Given the description of an element on the screen output the (x, y) to click on. 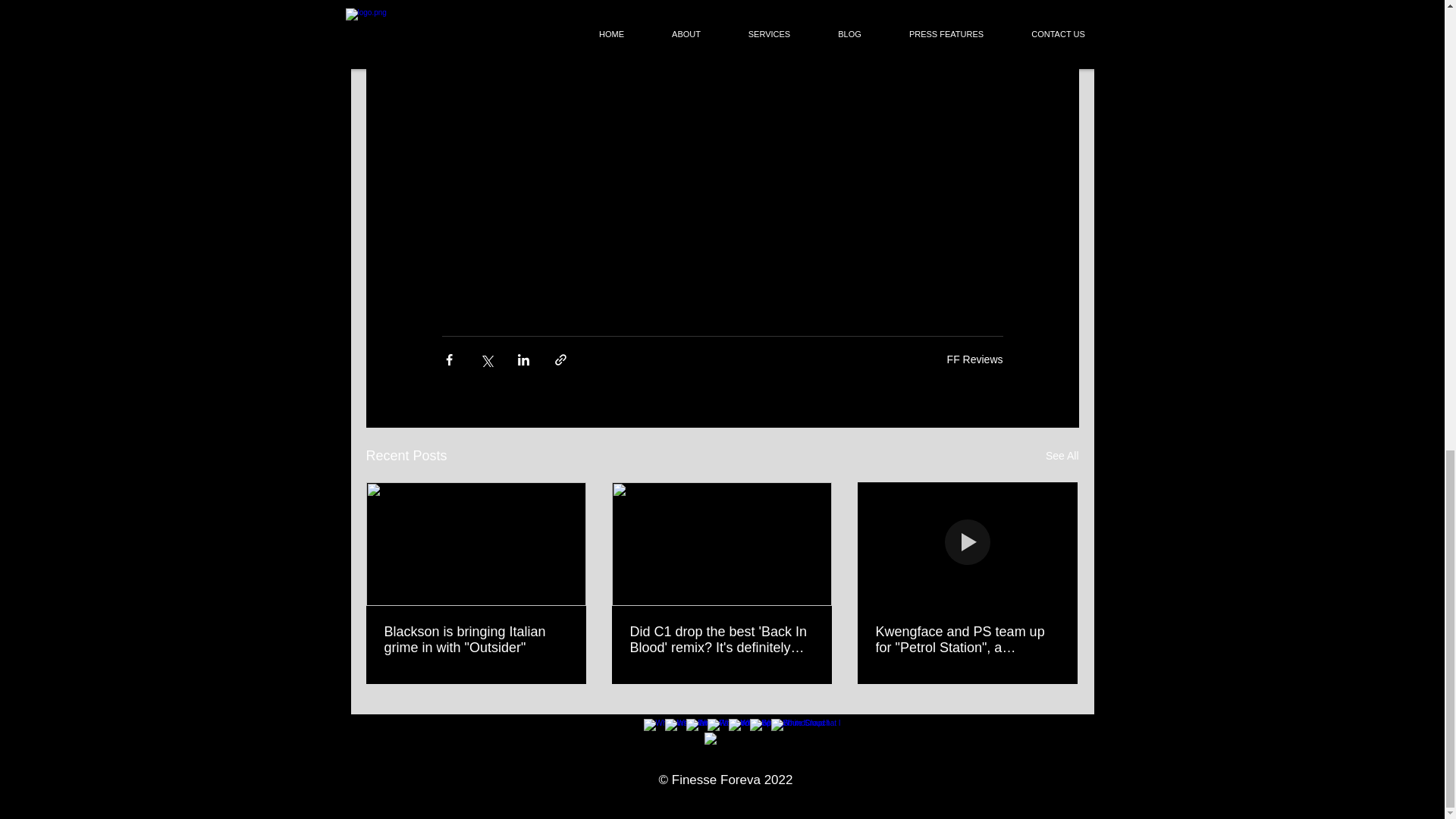
FF Reviews (975, 358)
See All (1061, 455)
Blackson is bringing Italian grime in with "Outsider" (475, 640)
